Given the description of an element on the screen output the (x, y) to click on. 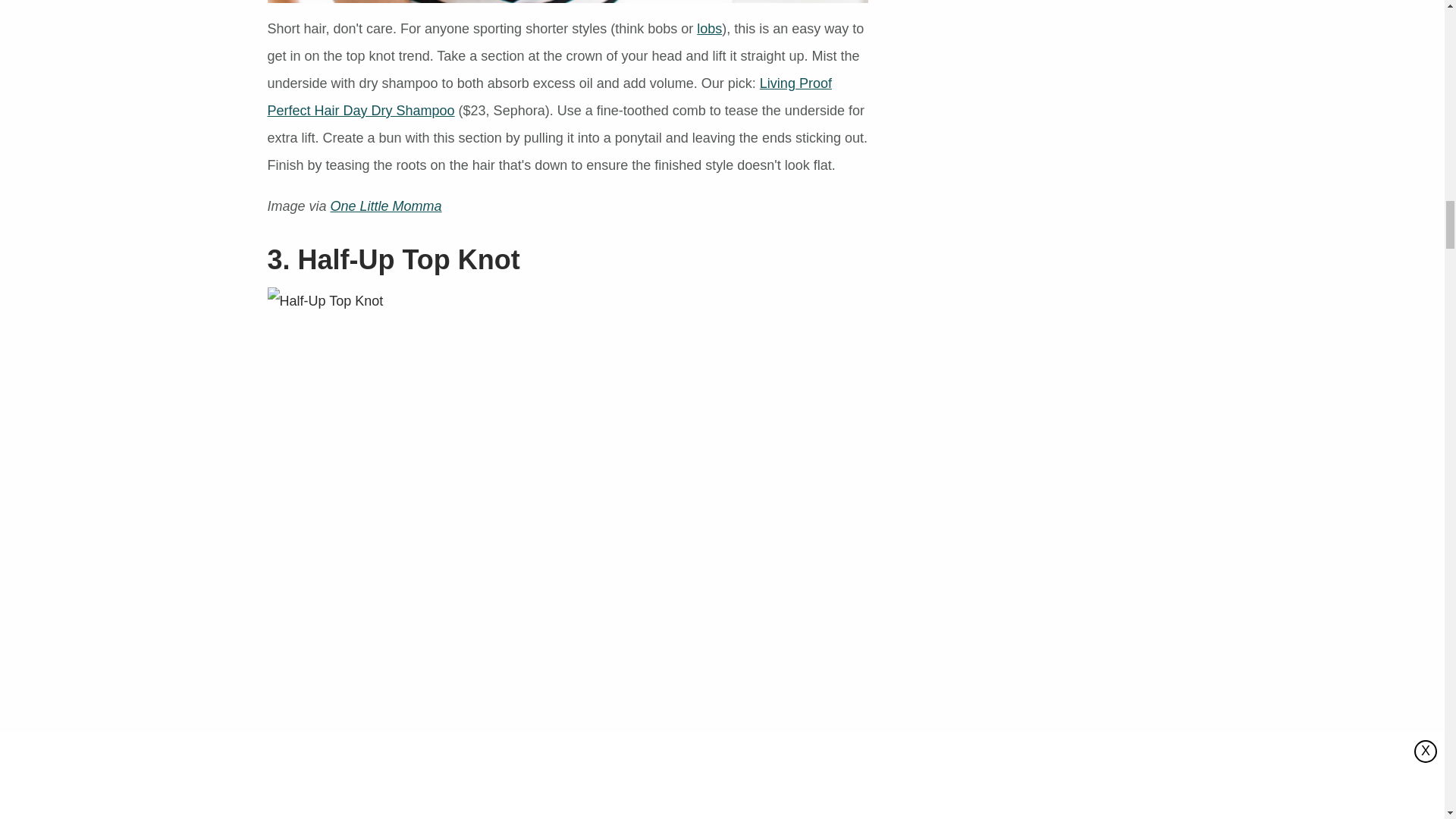
Living Proof Perfect Hair Day Dry Shampoo (548, 96)
One Little Momma (386, 206)
lobs (709, 28)
